Given the description of an element on the screen output the (x, y) to click on. 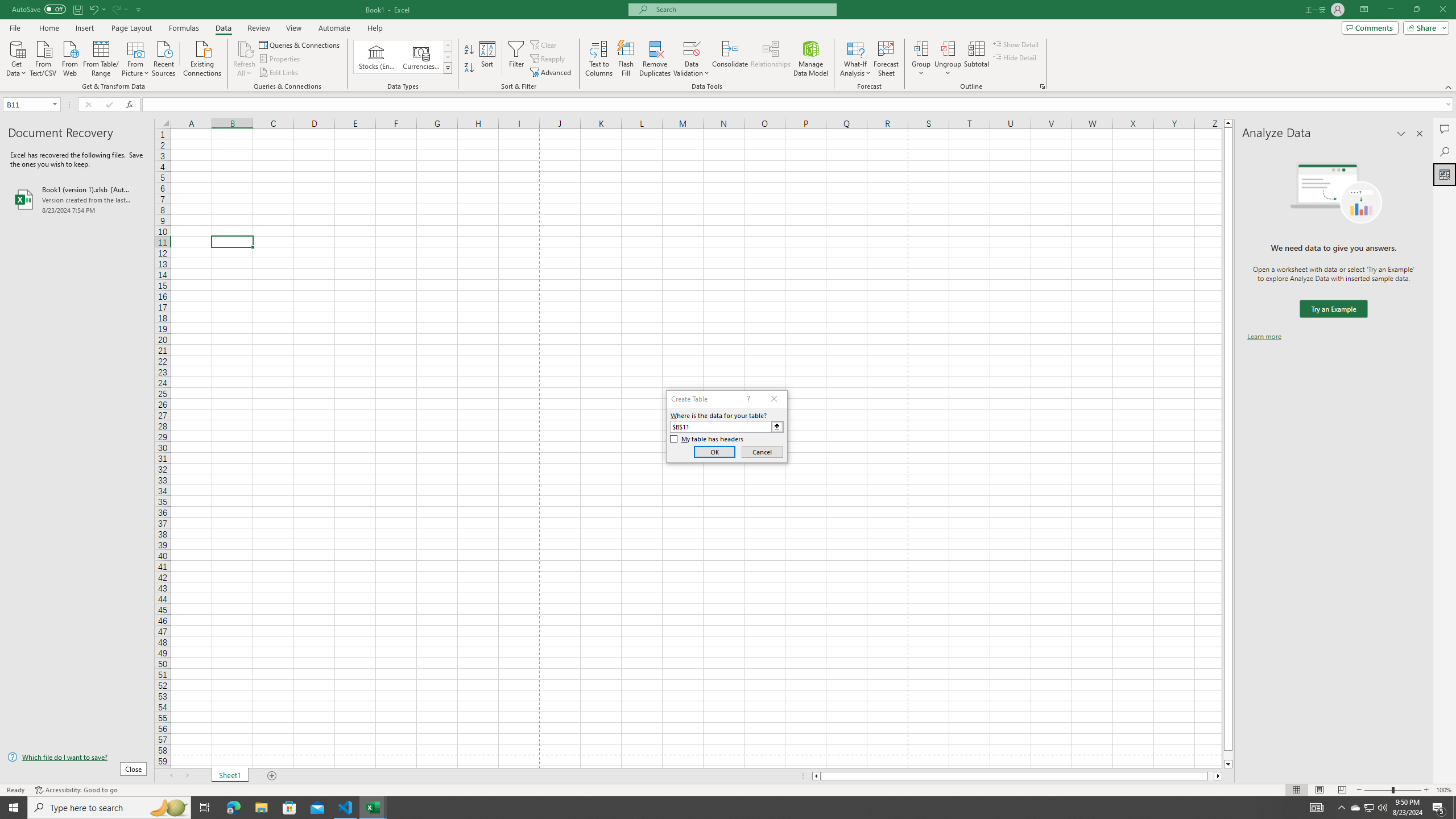
Learn more (1264, 336)
Show Detail (1016, 44)
Remove Duplicates (654, 58)
Properties (280, 58)
Reapply (548, 58)
Text to Columns... (598, 58)
